Given the description of an element on the screen output the (x, y) to click on. 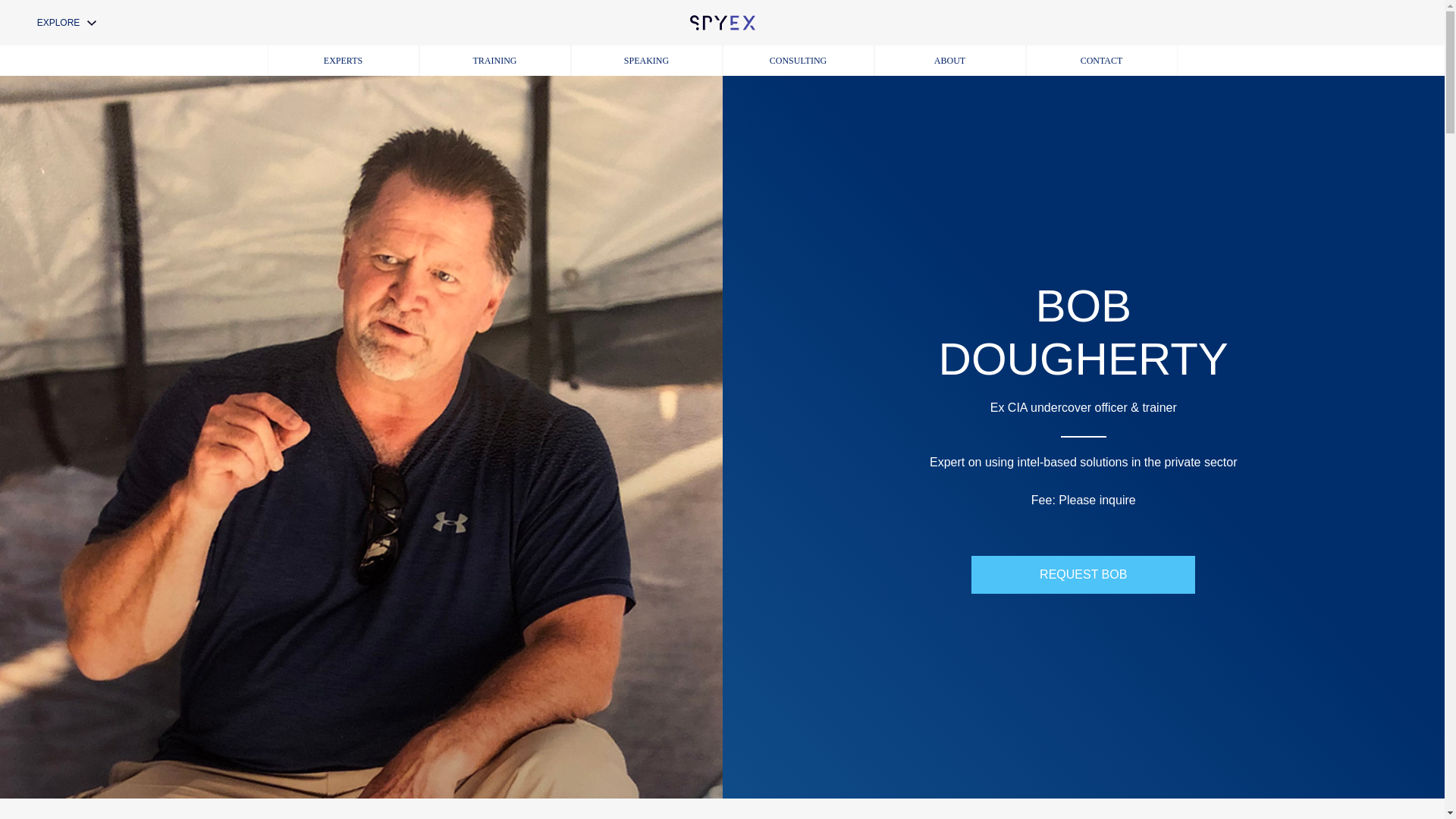
SPEAKING (646, 60)
TRAINING (494, 60)
REQUEST BOB (1083, 574)
EXPLORE (65, 22)
EXPERTS (342, 60)
CONTACT (1100, 60)
CONSULTING (797, 60)
ABOUT (949, 60)
